Given the description of an element on the screen output the (x, y) to click on. 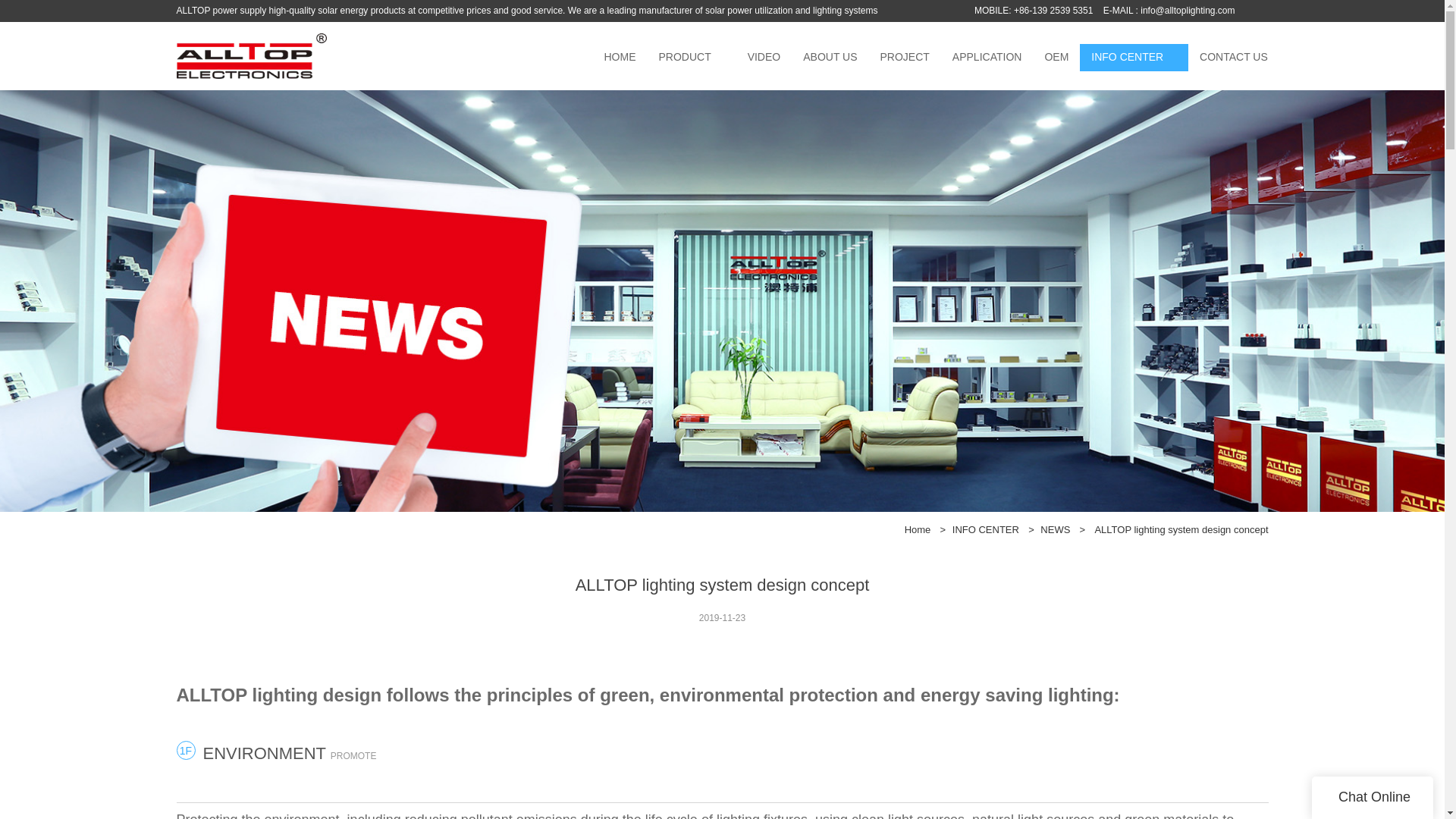
INFO CENTER (985, 529)
CONTACT US (1233, 57)
APPLICATION (986, 57)
INFO CENTER (1127, 57)
ABOUT US (829, 57)
VIDEO (764, 57)
HOME (619, 57)
Home (917, 529)
PRODUCT (684, 57)
PROJECT (904, 57)
